Given the description of an element on the screen output the (x, y) to click on. 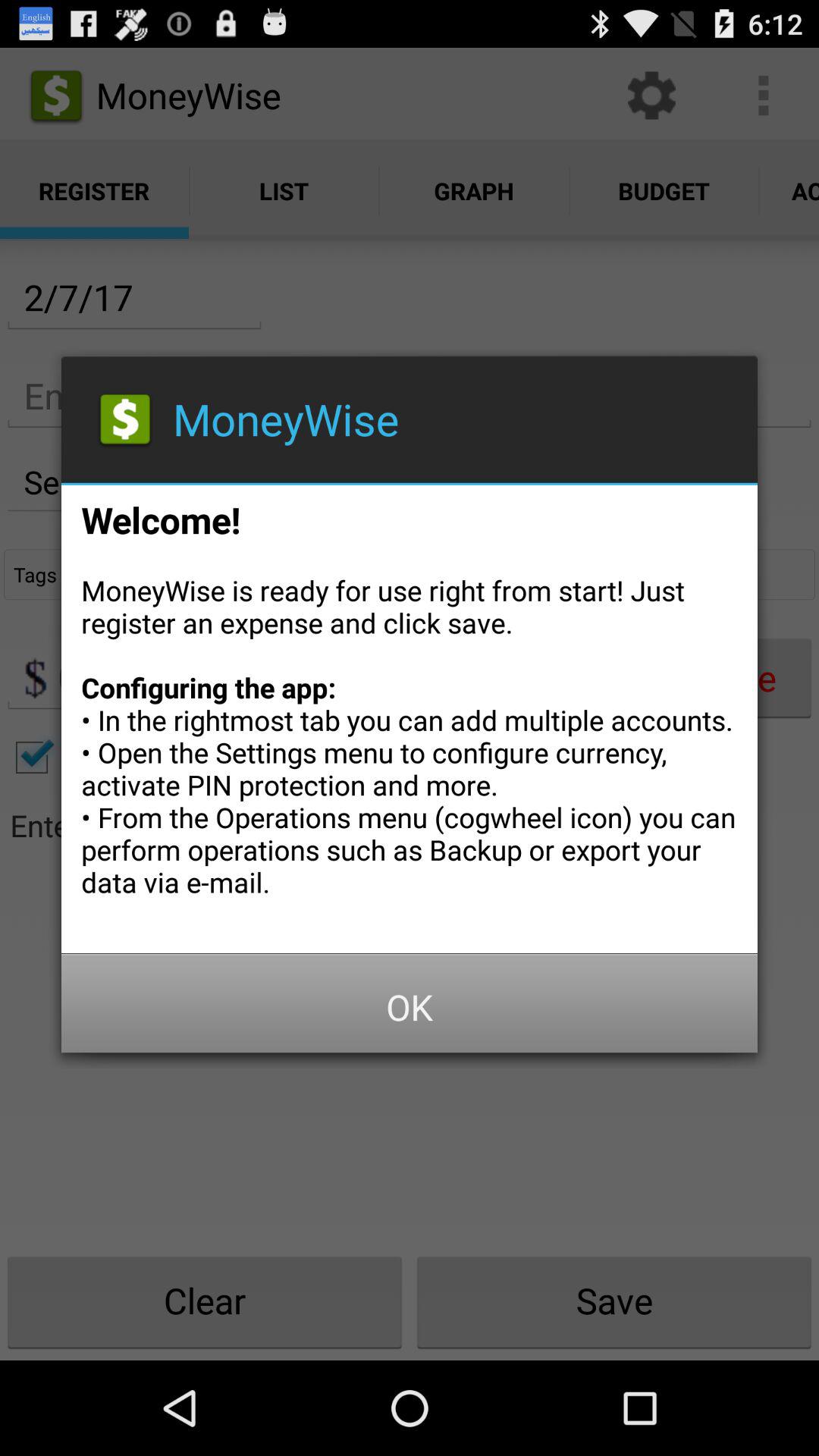
swipe to welcome moneywise is icon (409, 714)
